Given the description of an element on the screen output the (x, y) to click on. 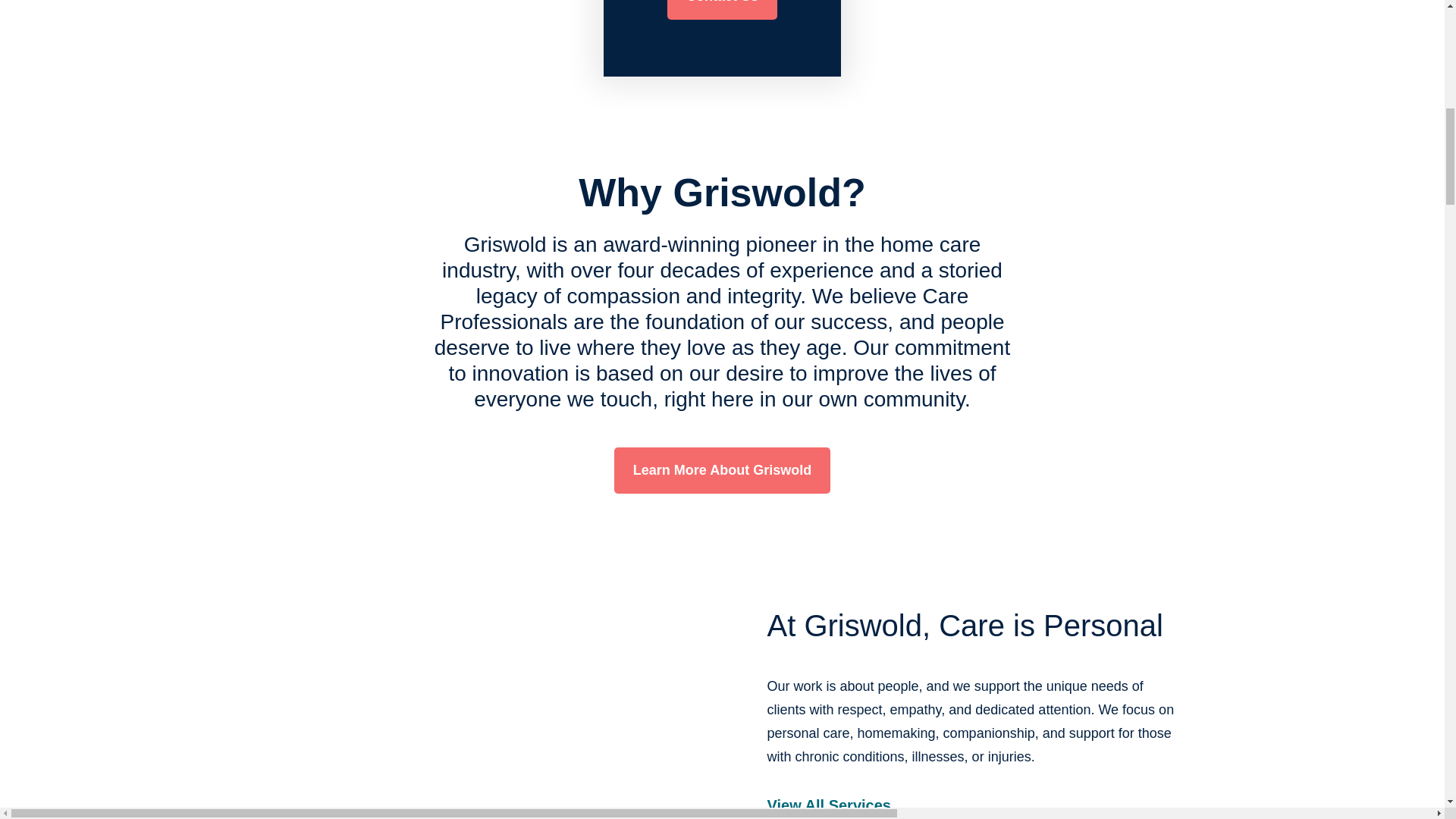
Contact Us (721, 9)
View All Services (829, 807)
Learn More About Griswold (721, 470)
